Given the description of an element on the screen output the (x, y) to click on. 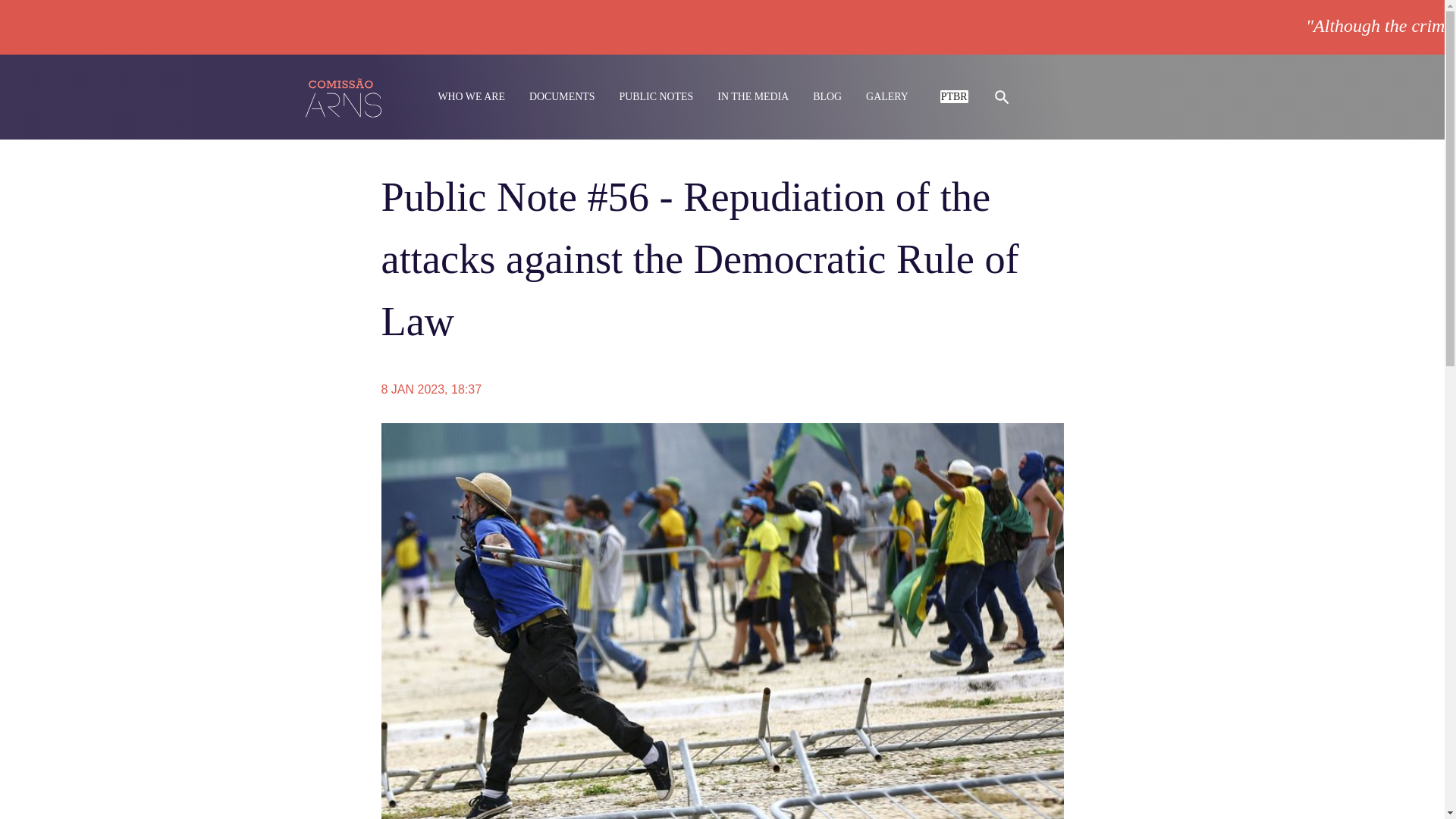
DOCUMENTS (562, 97)
GALERY (887, 97)
PUBLIC NOTES (655, 97)
PTBR (954, 96)
WHO WE ARE (471, 96)
BLOG (826, 97)
IN THE MEDIA (753, 97)
